Given the description of an element on the screen output the (x, y) to click on. 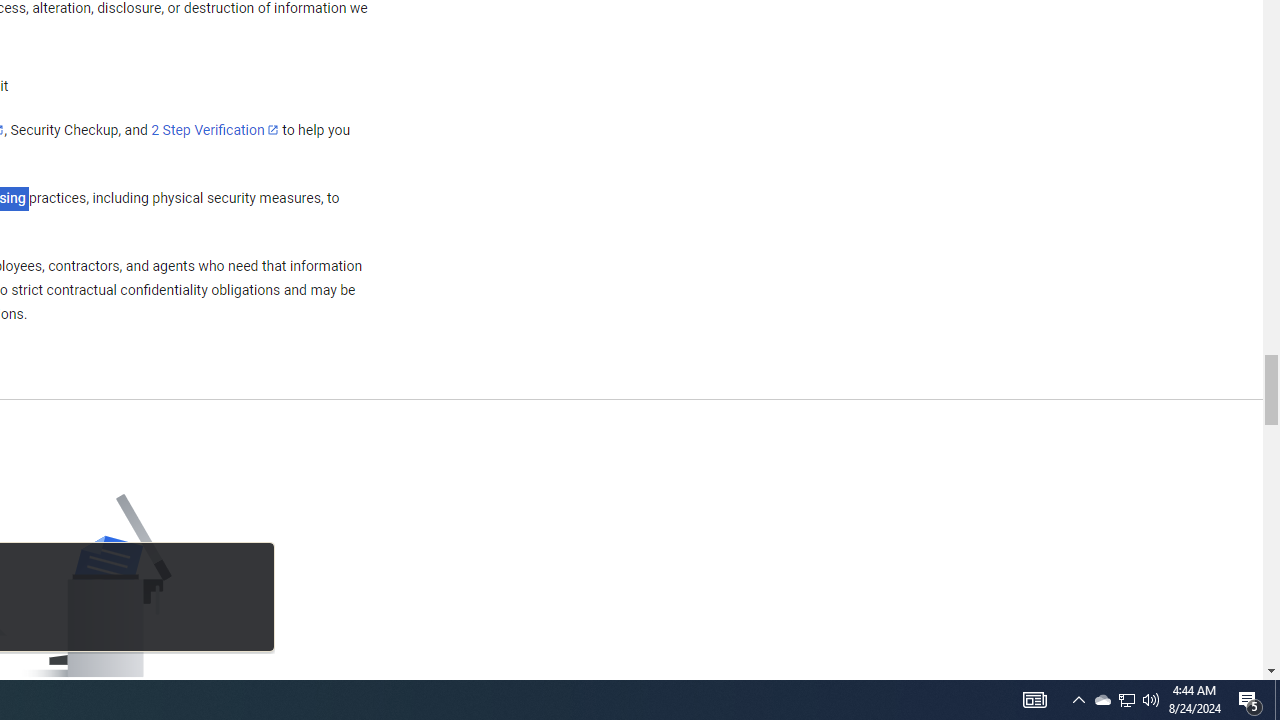
2 Step Verification (215, 129)
